Given the description of an element on the screen output the (x, y) to click on. 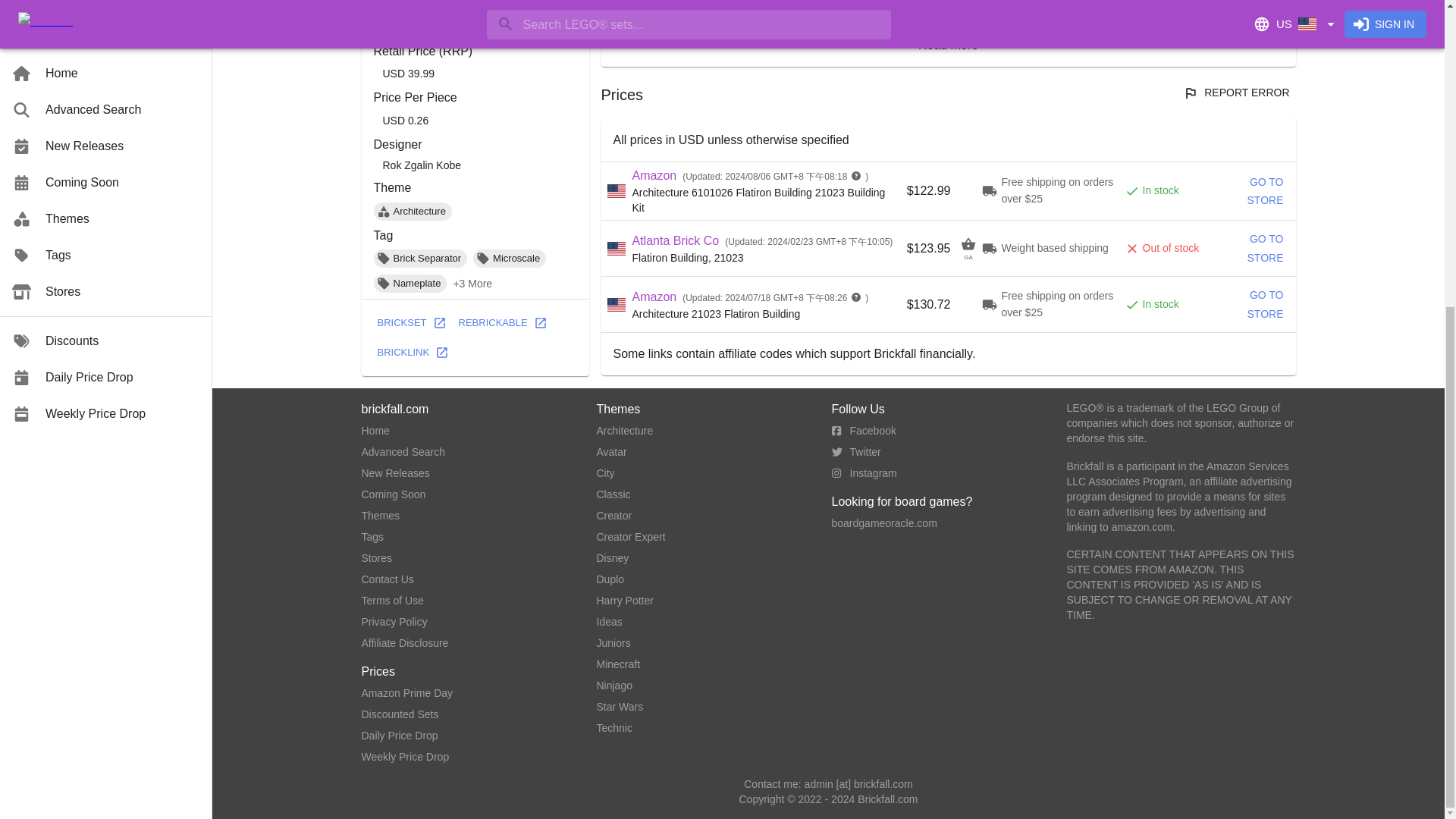
Buy Flatiron Building, New York from Amazon (1247, 304)
GO TO STORE (1247, 304)
REPORT ERROR (1237, 92)
GO TO STORE (1247, 190)
Atlanta Brick Co (675, 239)
Atlanta Brick Co (675, 239)
REBRICKABLE (502, 323)
Nameplate (409, 283)
Brickfall Home (374, 430)
Amazon (654, 296)
